Given the description of an element on the screen output the (x, y) to click on. 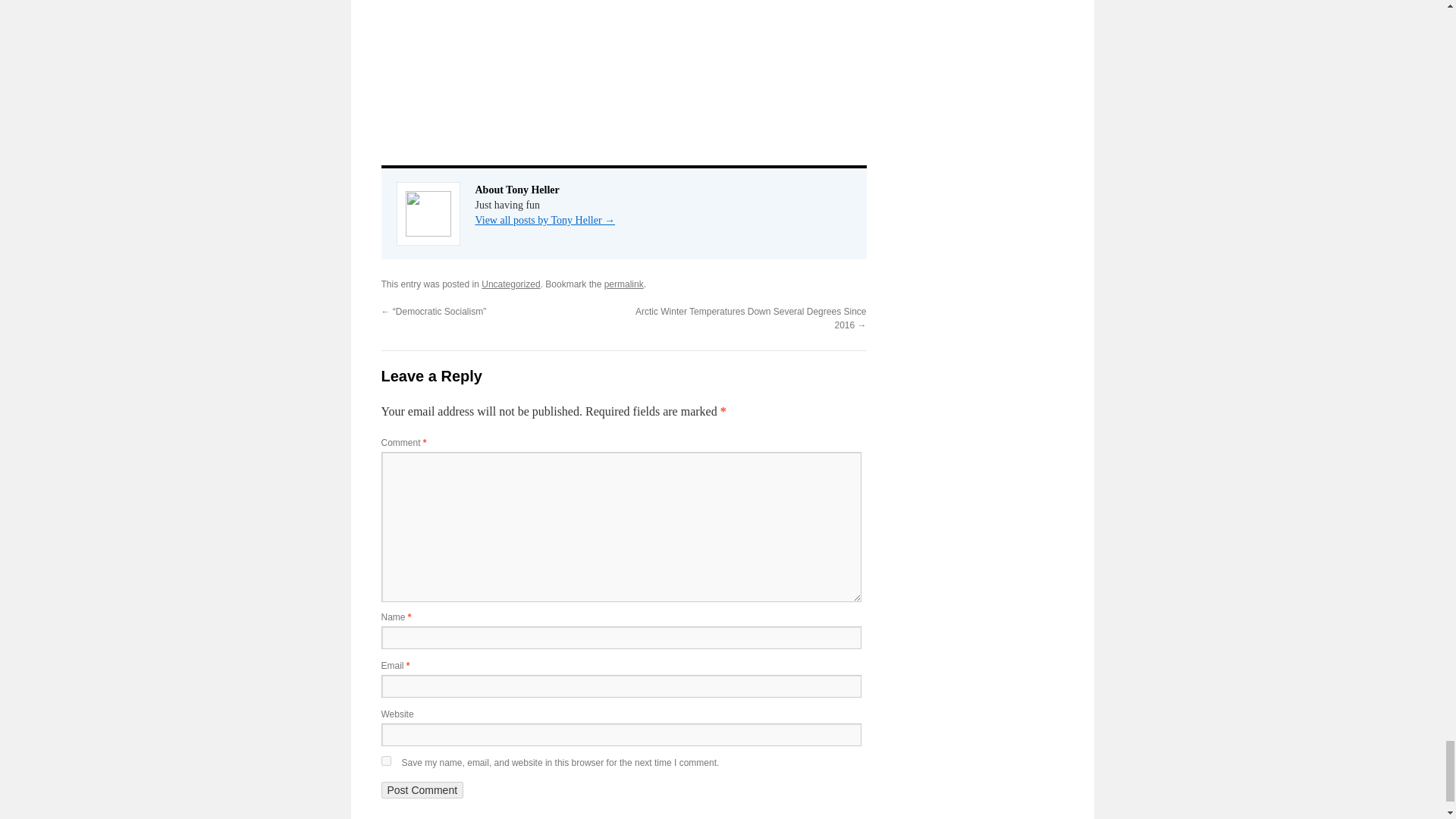
Post Comment (421, 790)
yes (385, 760)
Permalink to No Excuse For Data Tampering (623, 284)
